Given the description of an element on the screen output the (x, y) to click on. 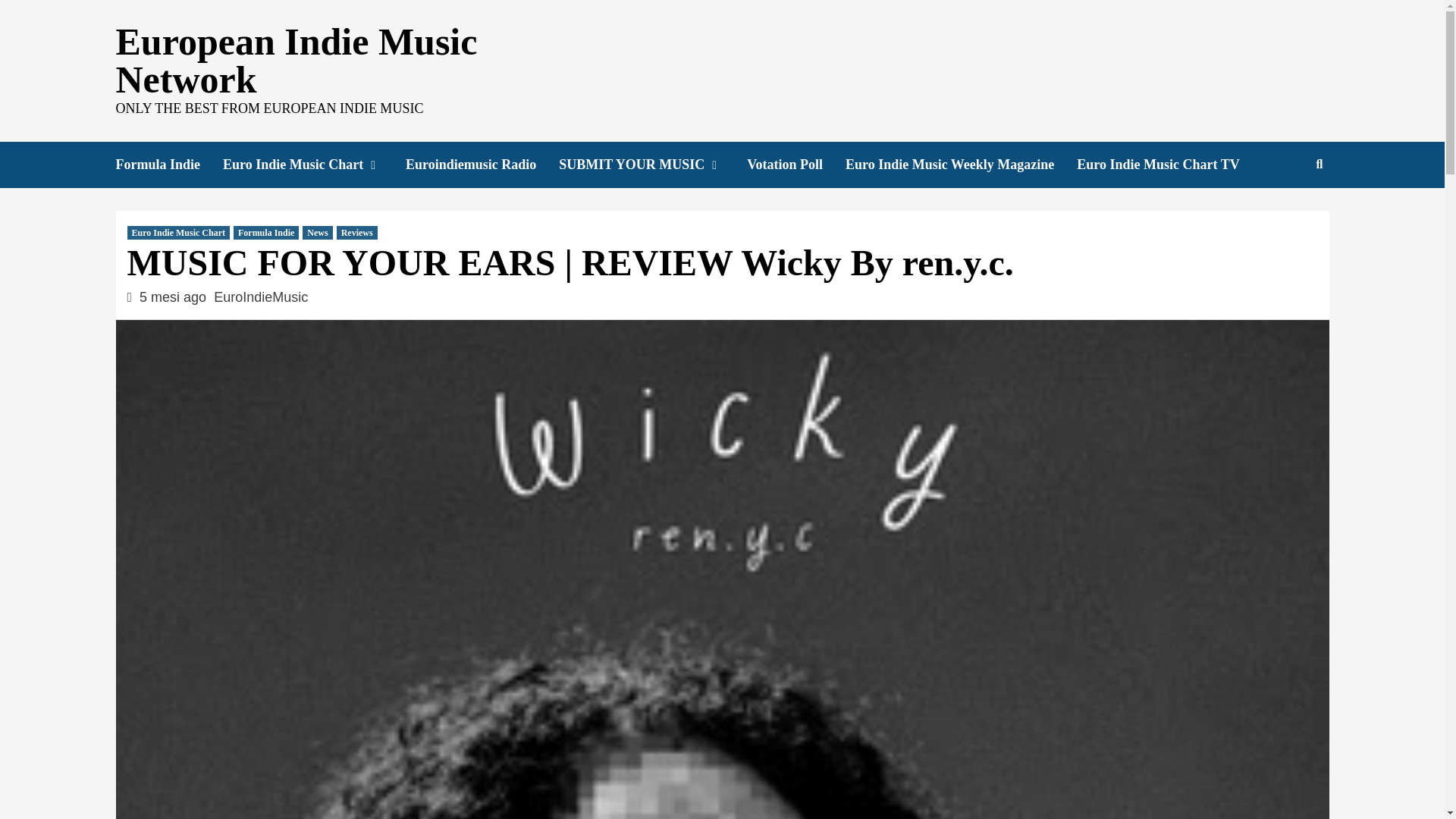
Euro Indie Music Weekly Magazine (961, 164)
Reviews (356, 232)
SUBMIT YOUR MUSIC (652, 164)
Cerca (1283, 213)
Euroindiemusic Radio (482, 164)
Formula Indie (168, 164)
EuroIndieMusic (260, 296)
Euro Indie Music Chart (314, 164)
Euro Indie Music Chart TV (1169, 164)
Votation Poll (795, 164)
European Indie Music Network (296, 60)
Formula Indie (265, 232)
News (316, 232)
Euro Indie Music Chart (179, 232)
